Given the description of an element on the screen output the (x, y) to click on. 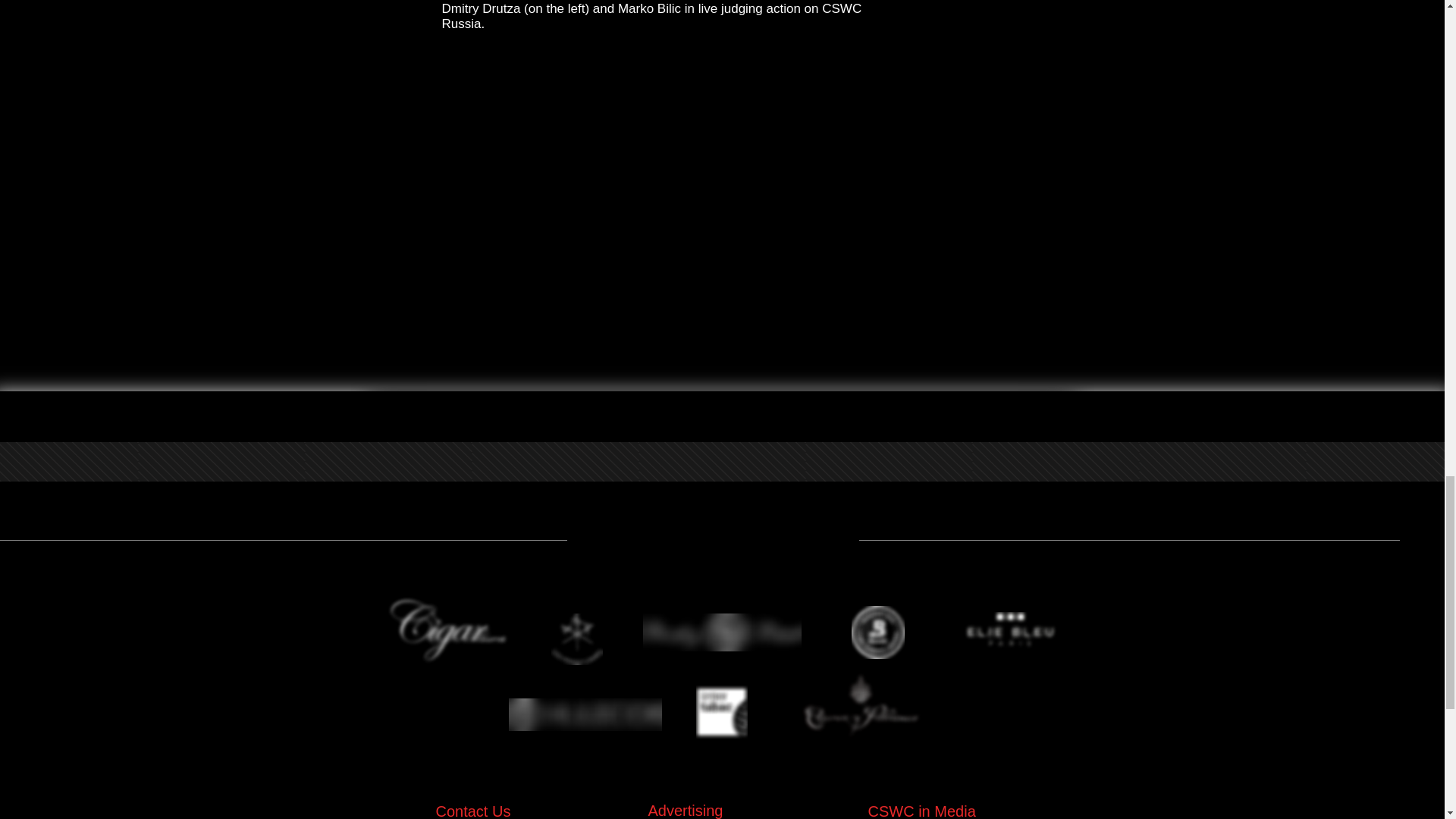
CSWC in Media (921, 811)
Contact Us (473, 811)
Advertising (684, 804)
